Given the description of an element on the screen output the (x, y) to click on. 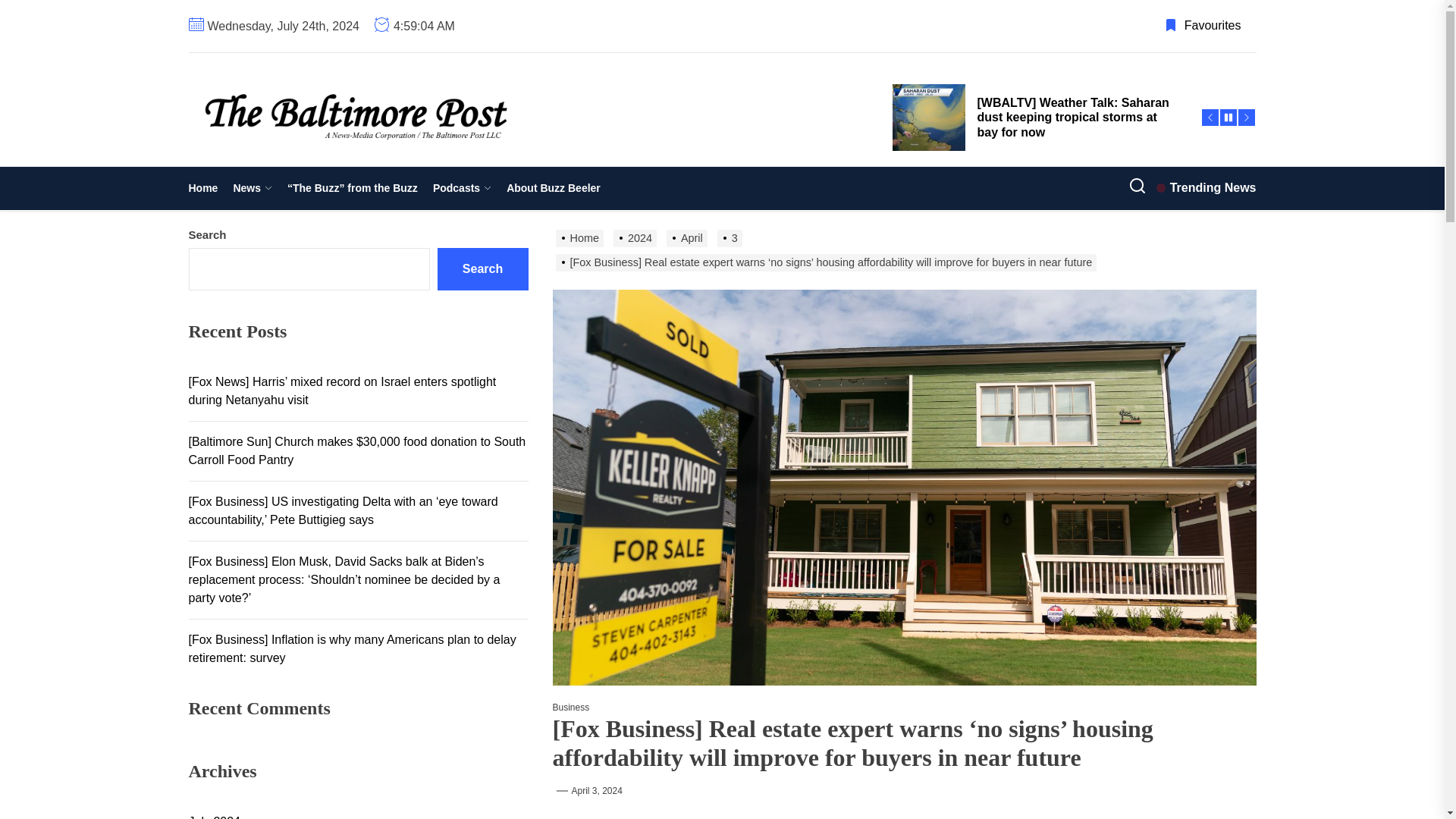
About Buzz Beeler (553, 188)
THE BALTIMORE POST (402, 168)
Trending News (1206, 188)
News (252, 188)
Podcasts (462, 188)
Favourites (1202, 26)
